Given the description of an element on the screen output the (x, y) to click on. 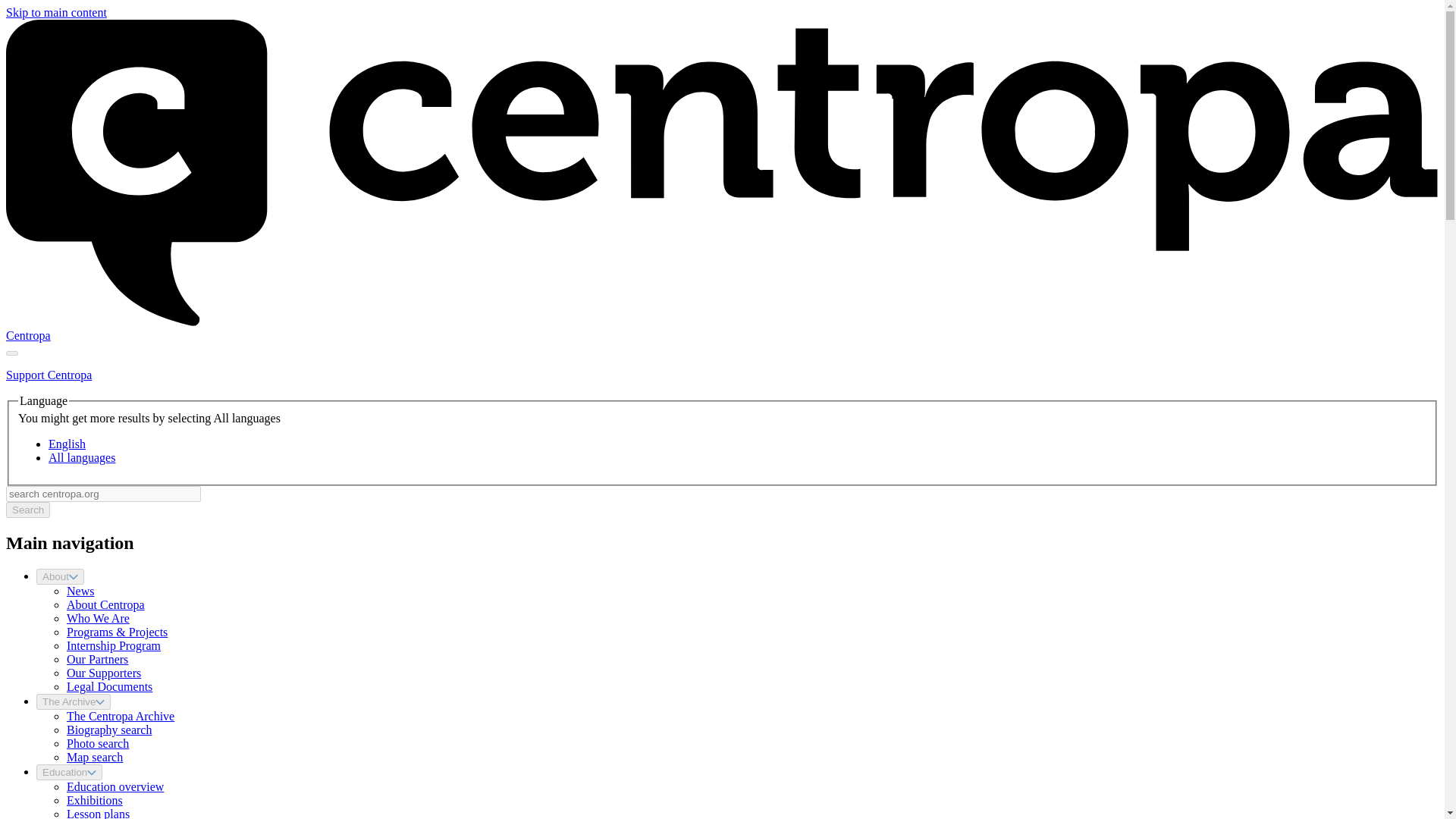
Who We Are (97, 617)
Lesson plans (97, 813)
English (66, 443)
Support Centropa (48, 374)
Map search (94, 757)
All languages (81, 457)
Internship Program (113, 645)
Search (27, 509)
Support Centropa (48, 374)
Our Partners (97, 658)
The Centropa Archive (120, 716)
About (60, 576)
The Archive (73, 701)
Education overview (114, 786)
About Centropa (105, 604)
